Given the description of an element on the screen output the (x, y) to click on. 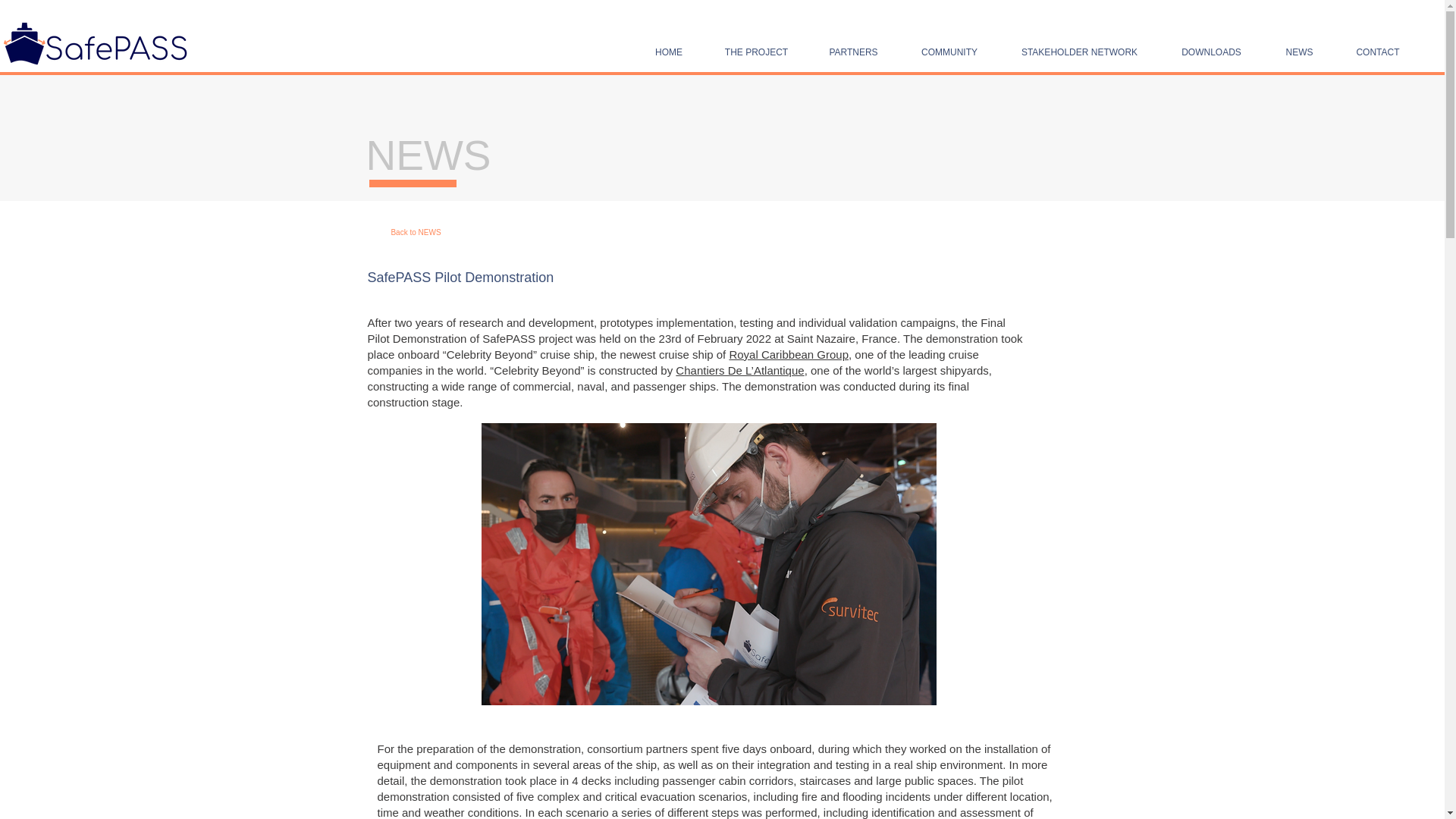
NEWS (1299, 51)
STAKEHOLDER NETWORK (1079, 51)
Back to NEWS (415, 232)
DOWNLOADS (1210, 51)
COMMUNITY (949, 51)
PARTNERS (853, 51)
THE PROJECT (756, 51)
Royal Caribbean Group (788, 354)
CONTACT (1378, 51)
HOME (668, 51)
